Given the description of an element on the screen output the (x, y) to click on. 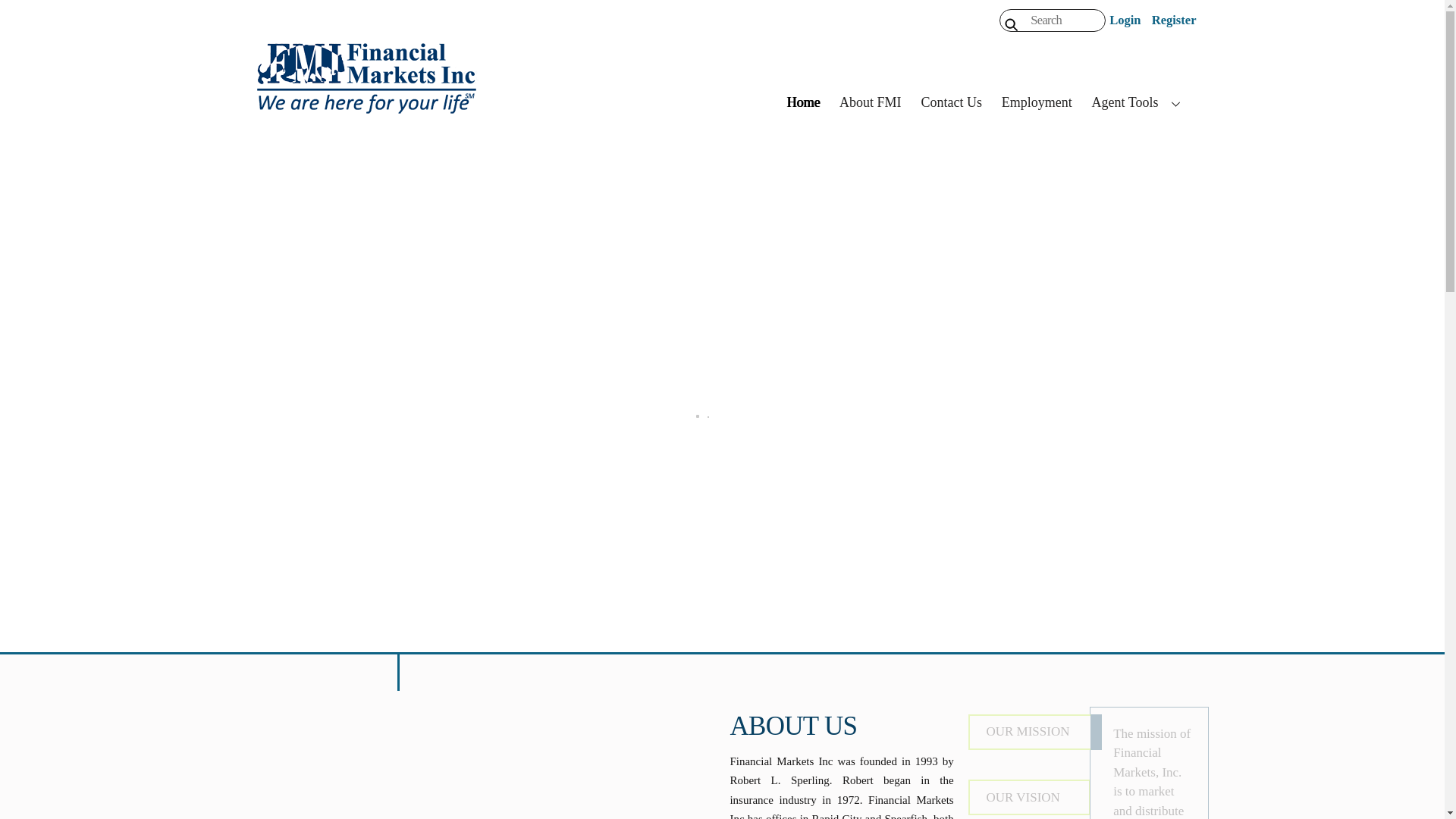
Employment (1036, 102)
Contact Us (951, 102)
About FMI (869, 102)
Login Register (721, 21)
Login (1124, 20)
Register (1173, 20)
Search (1051, 20)
Agent Tools (1137, 102)
Financial Markets Inc (365, 108)
Home (802, 102)
